Given the description of an element on the screen output the (x, y) to click on. 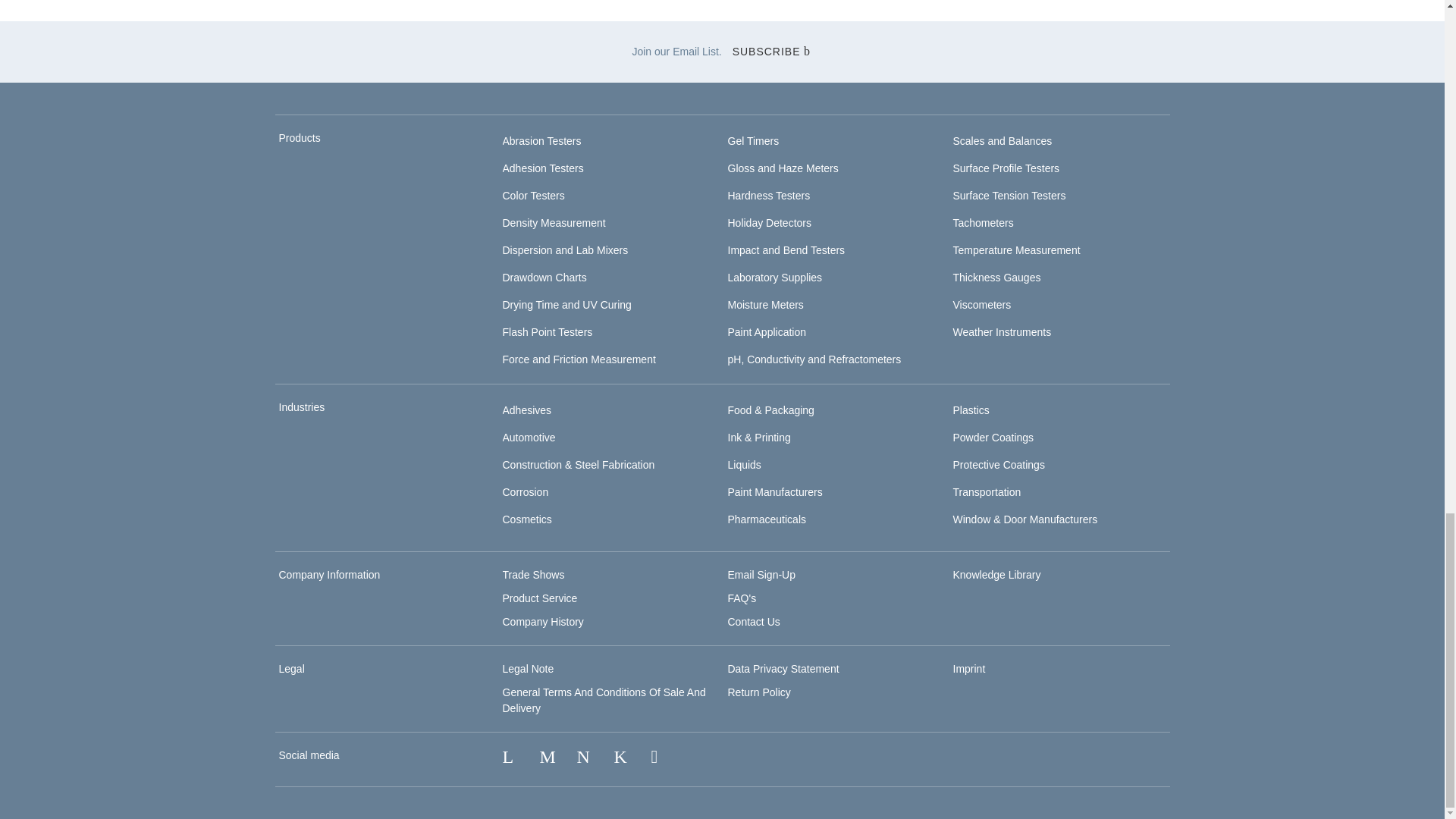
Imprint (968, 668)
General Terms And Conditions Of Sale And Delivery (603, 700)
Contact Us (754, 621)
Company History (542, 621)
Email Sign-Up (761, 574)
Legal Note (527, 668)
Knowledge Library (996, 574)
Product Service (539, 598)
Trade Shows (533, 574)
Return Policy (759, 692)
FAQ's (742, 598)
Data Privacy Statement (784, 668)
